Given the description of an element on the screen output the (x, y) to click on. 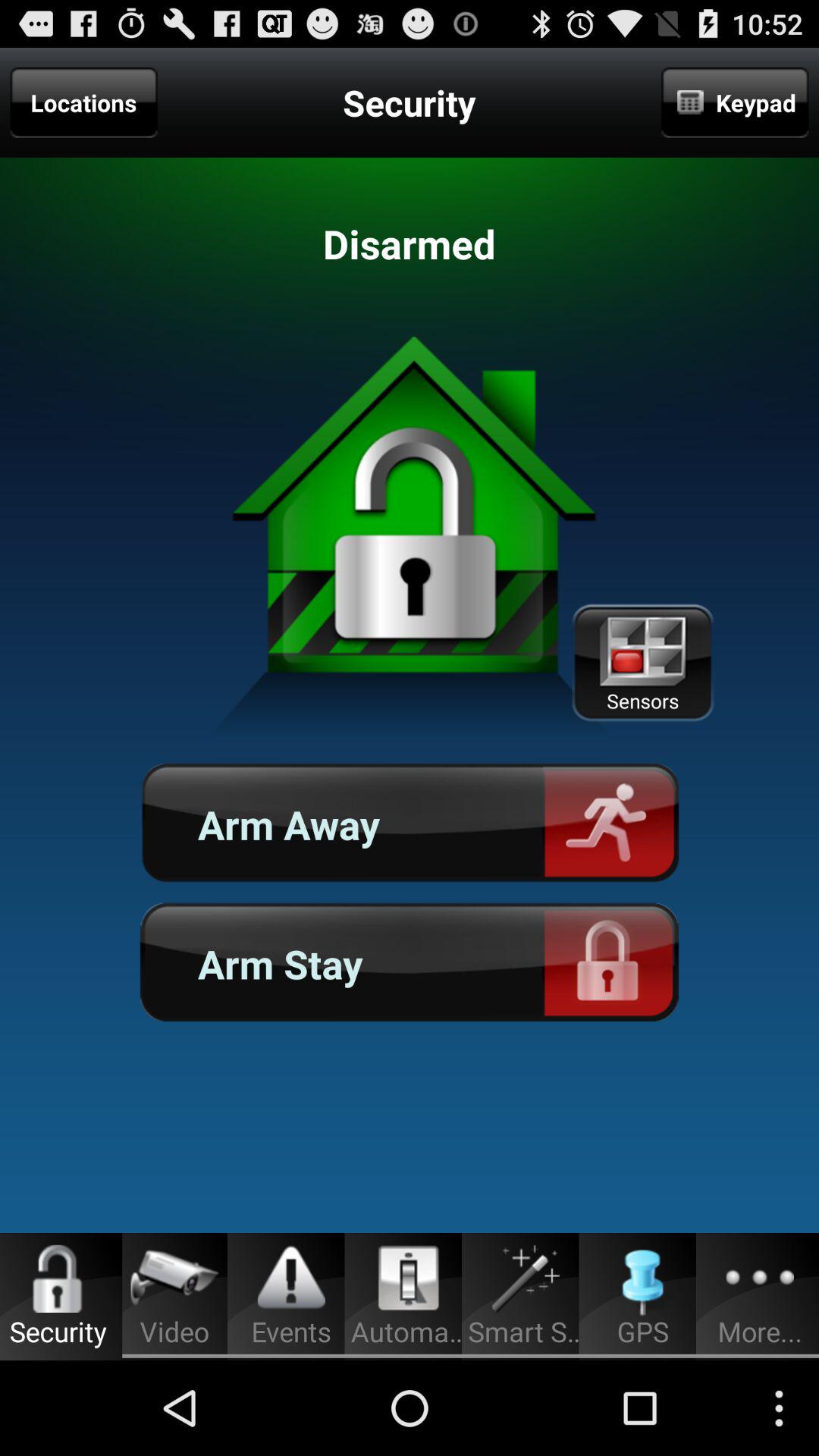
turn off the item below keypad icon (642, 662)
